Given the description of an element on the screen output the (x, y) to click on. 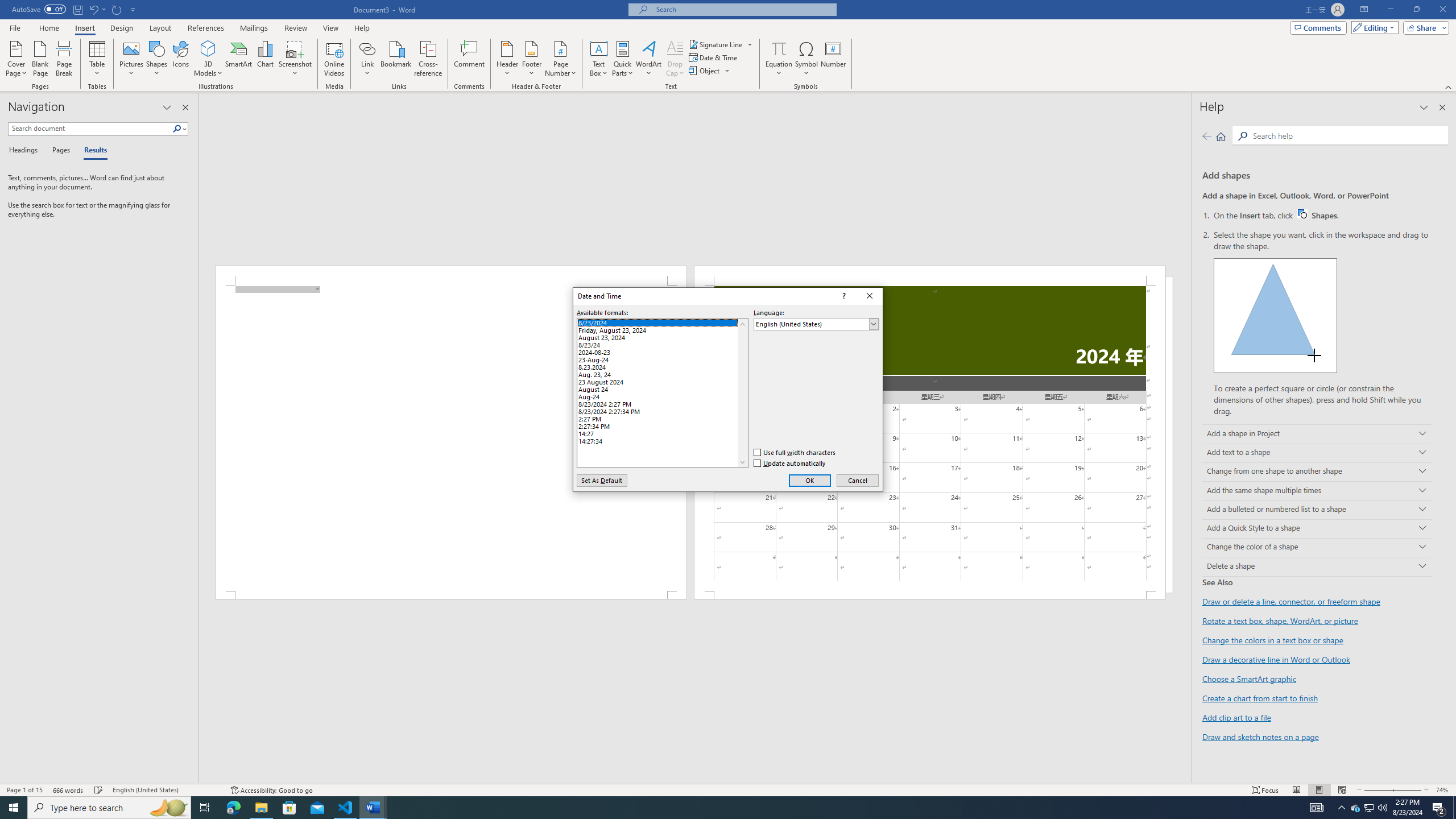
Aug. 23, 24 (662, 372)
Repeat Doc Close (117, 9)
Add clip art to a file (1236, 717)
Symbol (806, 58)
Bookmark... (396, 58)
August 23, 2024 (662, 335)
Q2790: 100% (1382, 807)
Page Break (63, 58)
Add text to a shape (1316, 452)
Pictures (131, 58)
Draw or delete a line, connector, or freeform shape (1291, 601)
